Given the description of an element on the screen output the (x, y) to click on. 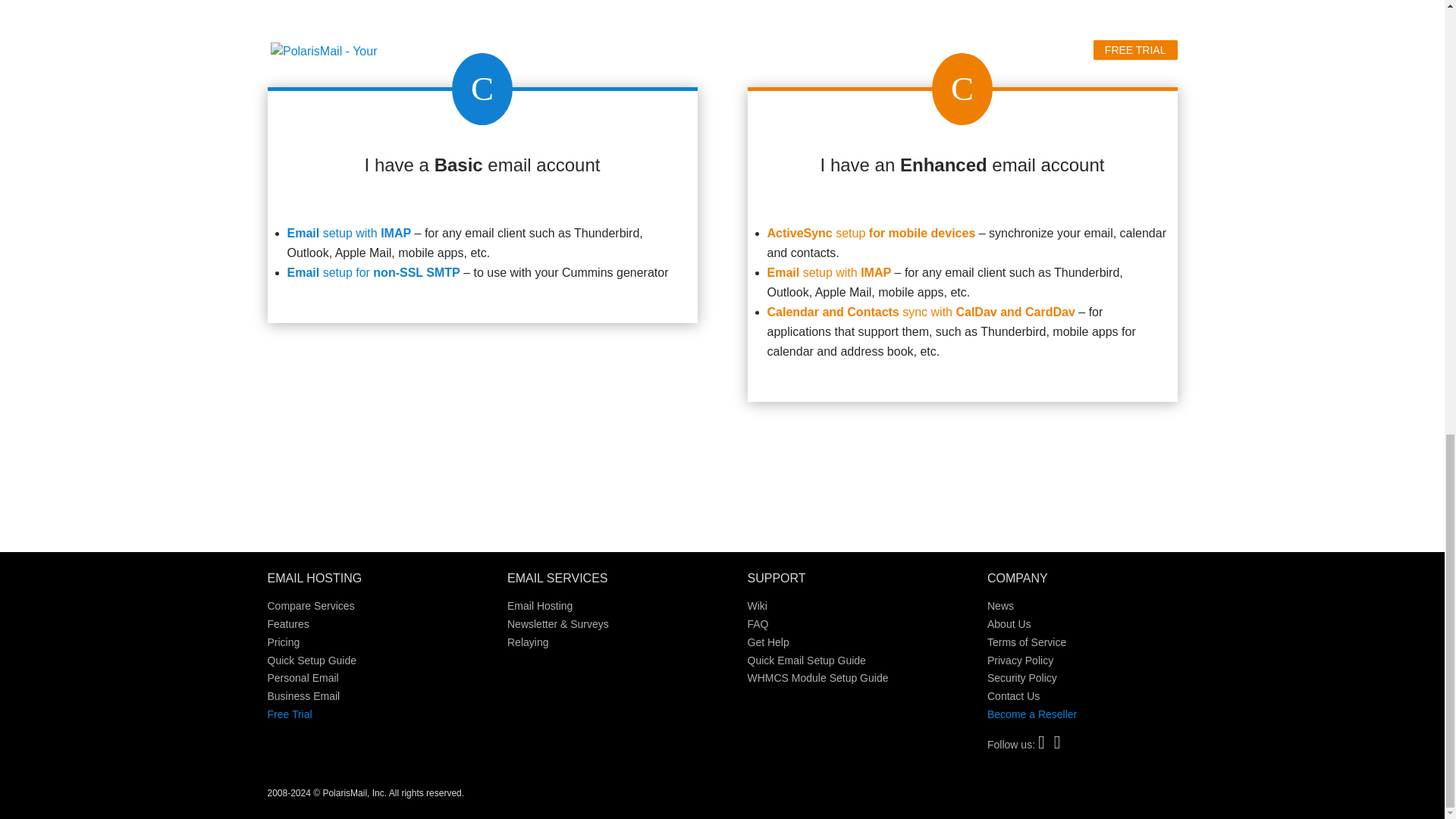
Email setup with IMAP (348, 232)
